Given the description of an element on the screen output the (x, y) to click on. 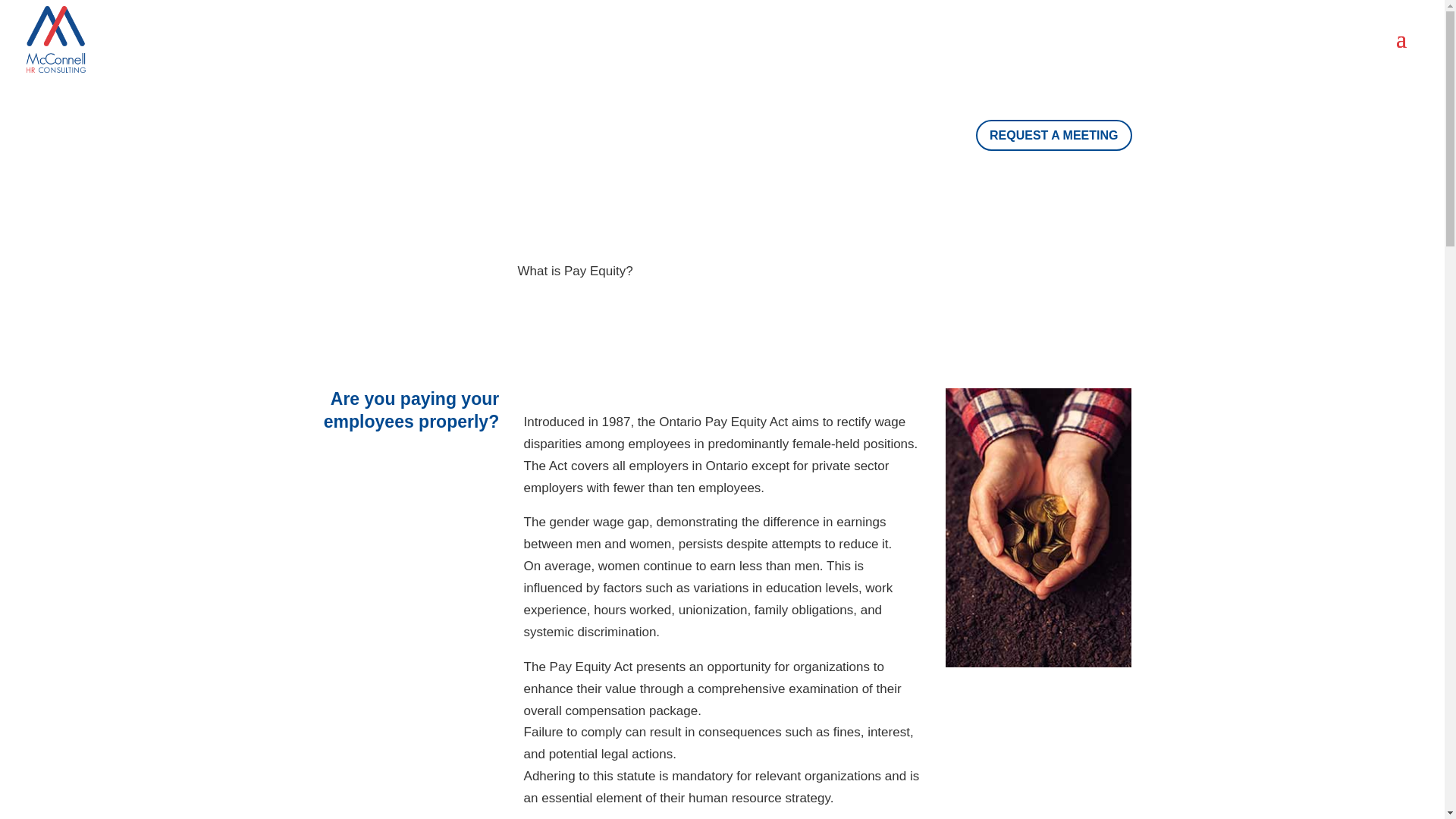
REQUEST A MEETING (1053, 134)
